Given the description of an element on the screen output the (x, y) to click on. 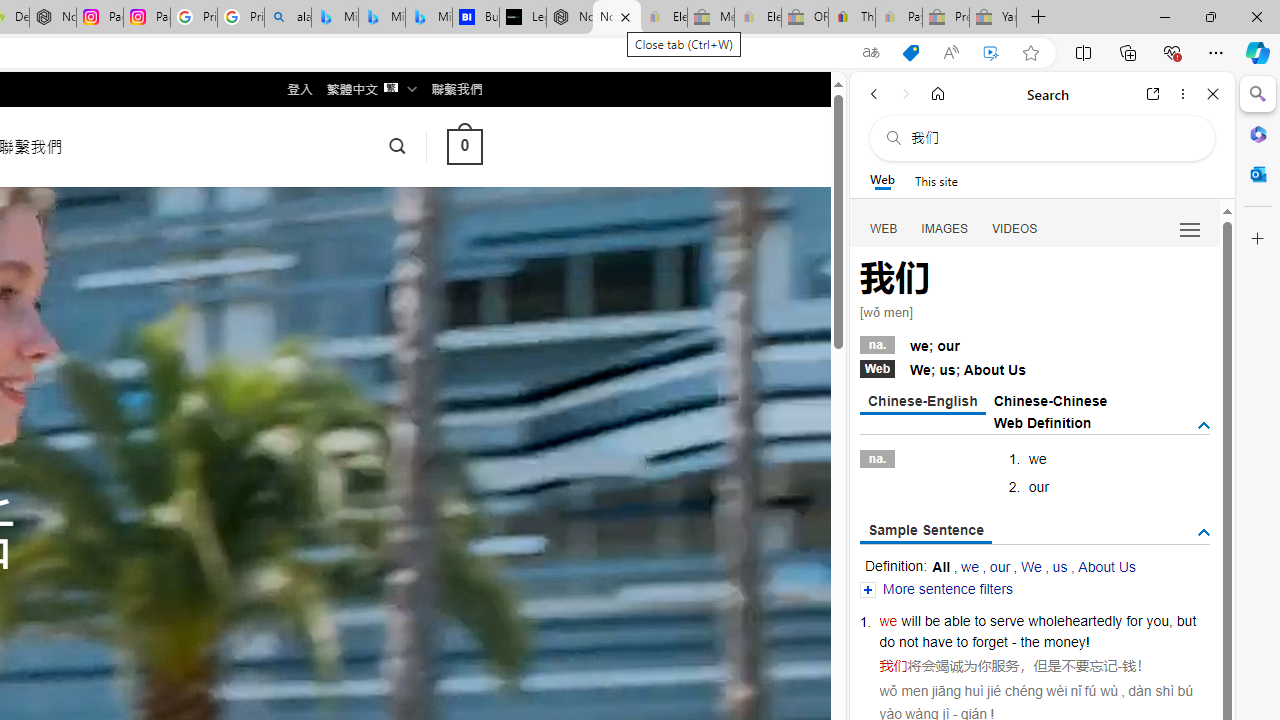
will (911, 620)
not (908, 642)
We (1030, 566)
  0   (464, 146)
Search Filter, WEB (884, 228)
AutomationID: tgdef_sen (1203, 533)
! (1087, 642)
